Given the description of an element on the screen output the (x, y) to click on. 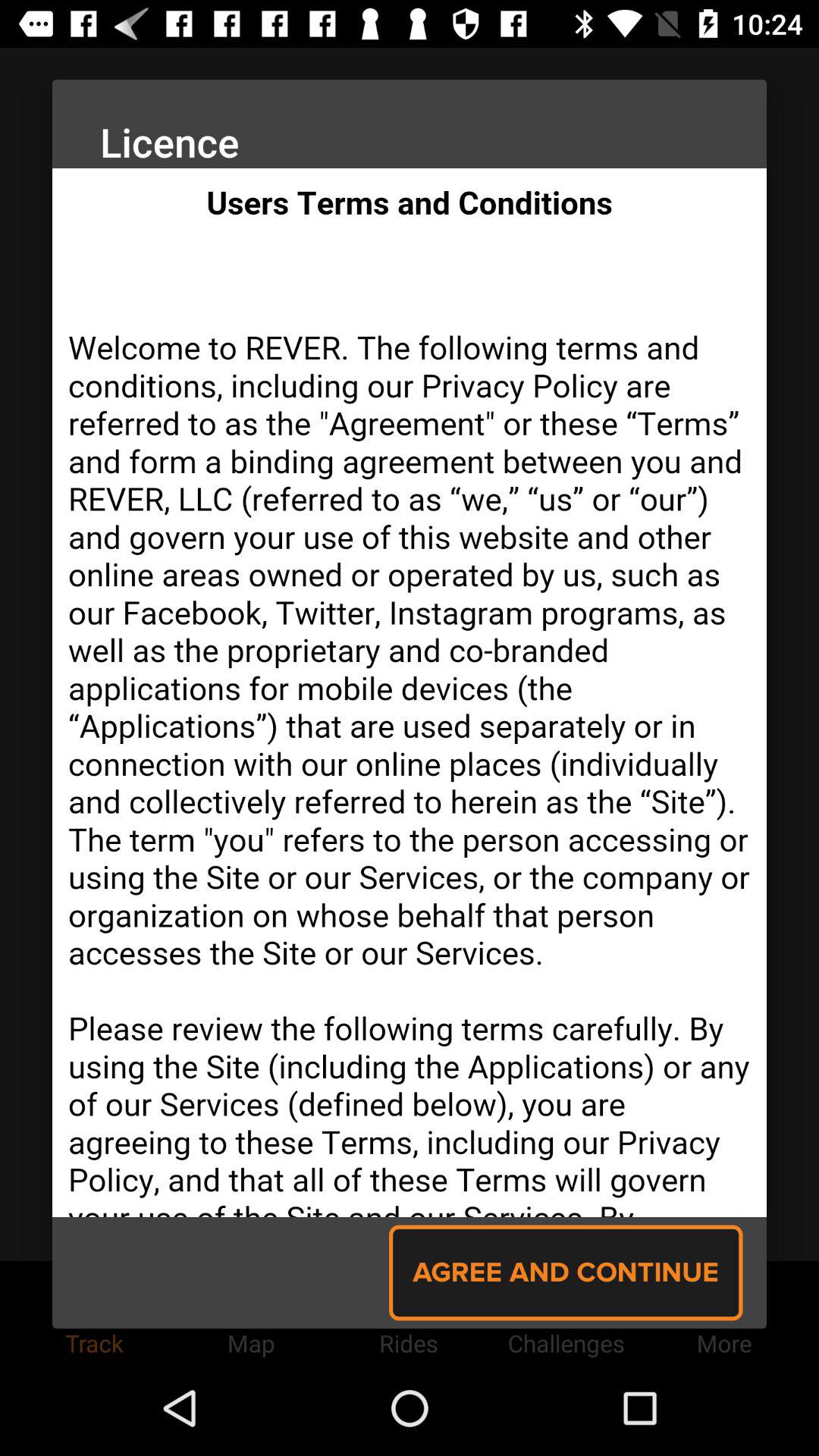
app 's licence page (409, 692)
